Given the description of an element on the screen output the (x, y) to click on. 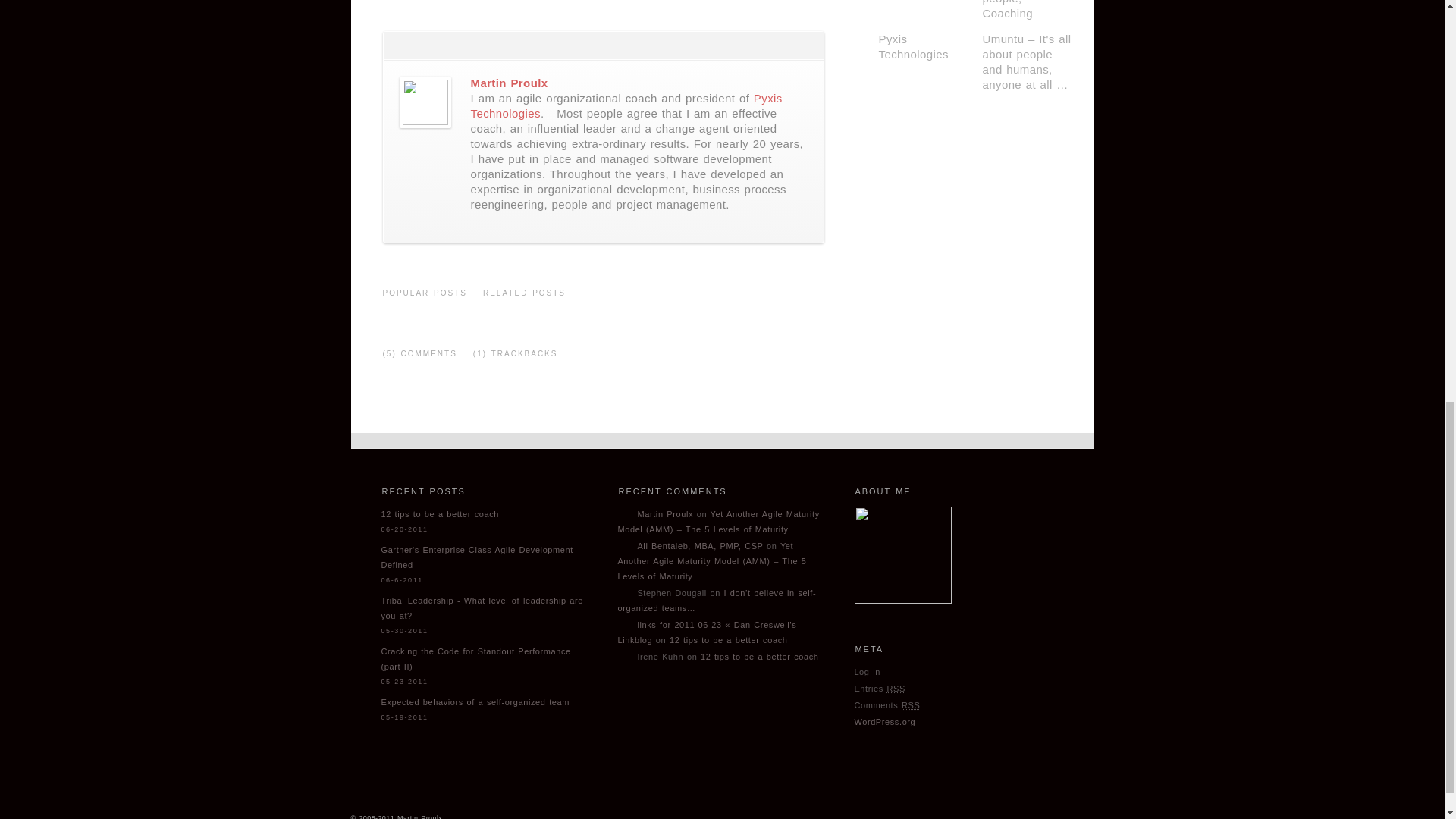
Pyxis Technologies (625, 105)
POPULAR POSTS (424, 298)
RELATED POSTS (523, 298)
Pyxis Technologies (625, 105)
Martin Proulx (508, 82)
